Given the description of an element on the screen output the (x, y) to click on. 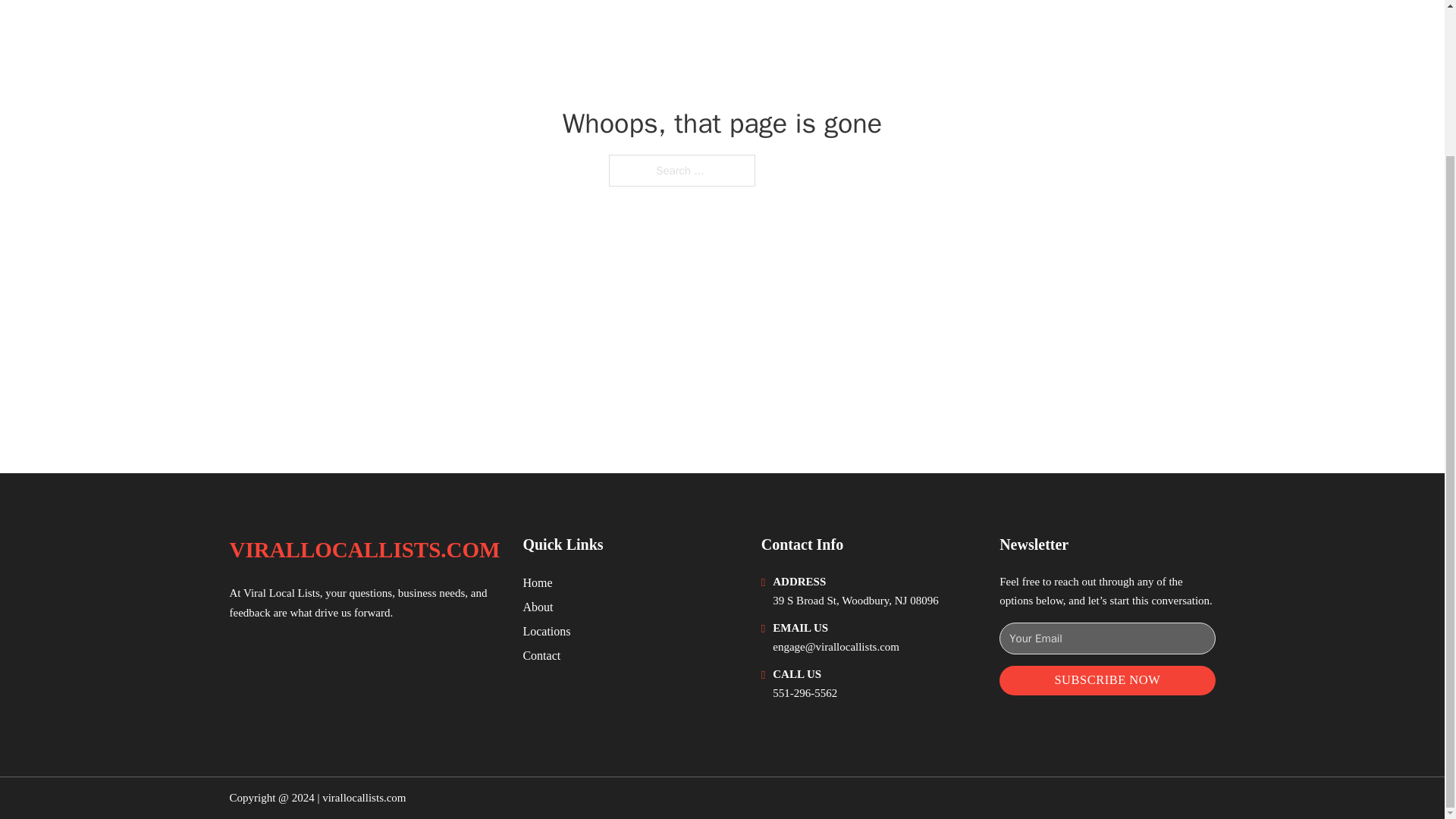
551-296-5562 (805, 693)
SUBSCRIBE NOW (1106, 680)
About (537, 607)
Contact (541, 655)
VIRALLOCALLISTS.COM (363, 549)
Home (536, 582)
Locations (546, 630)
